Given the description of an element on the screen output the (x, y) to click on. 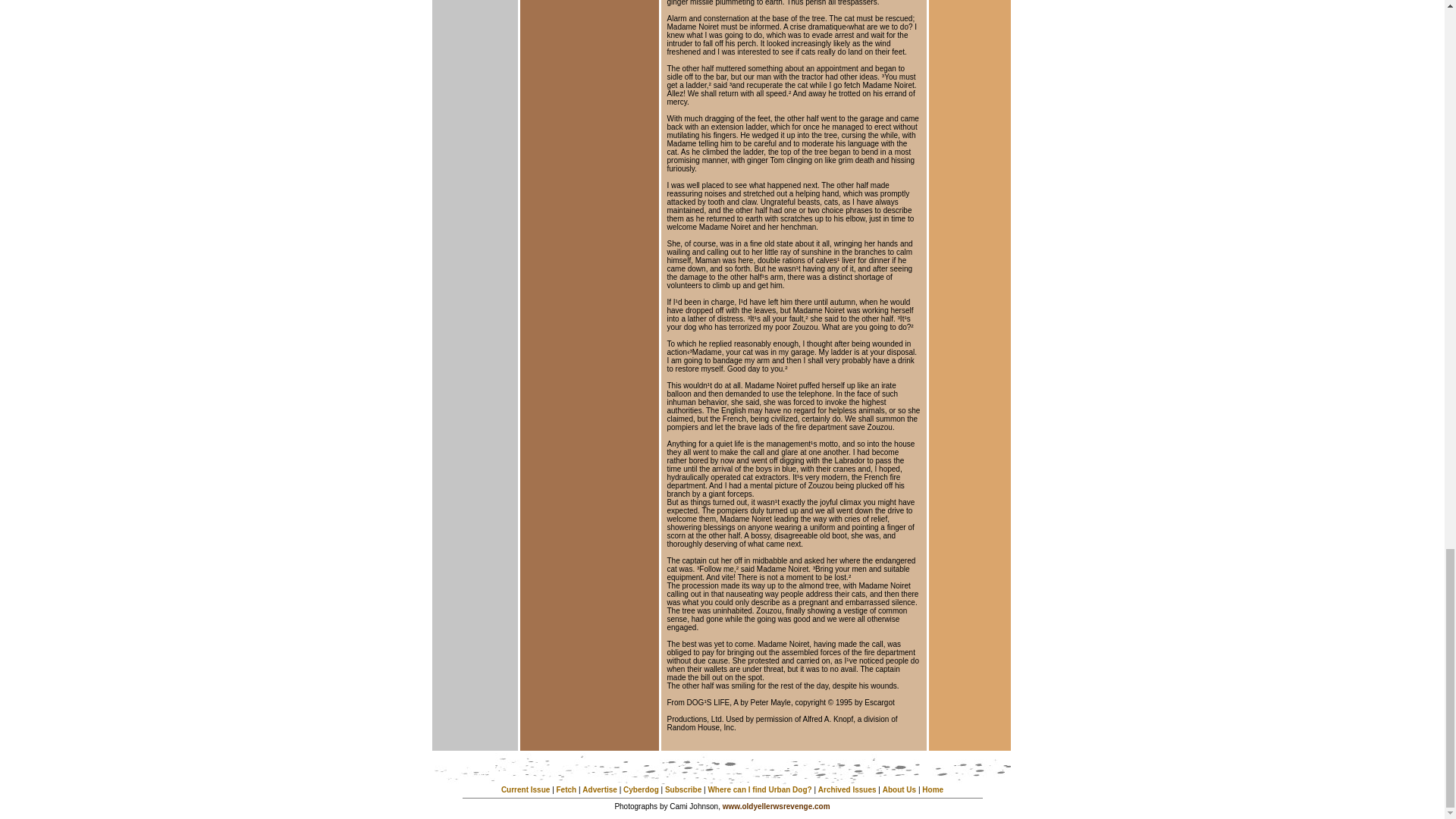
Where can I find Urban Dog? (758, 789)
About Us (898, 789)
Subscribe (683, 789)
Current Issue (525, 789)
Home (932, 789)
Fetch (566, 789)
Archived Issues (847, 789)
Cyberdog (641, 789)
Advertise (599, 789)
